Given the description of an element on the screen output the (x, y) to click on. 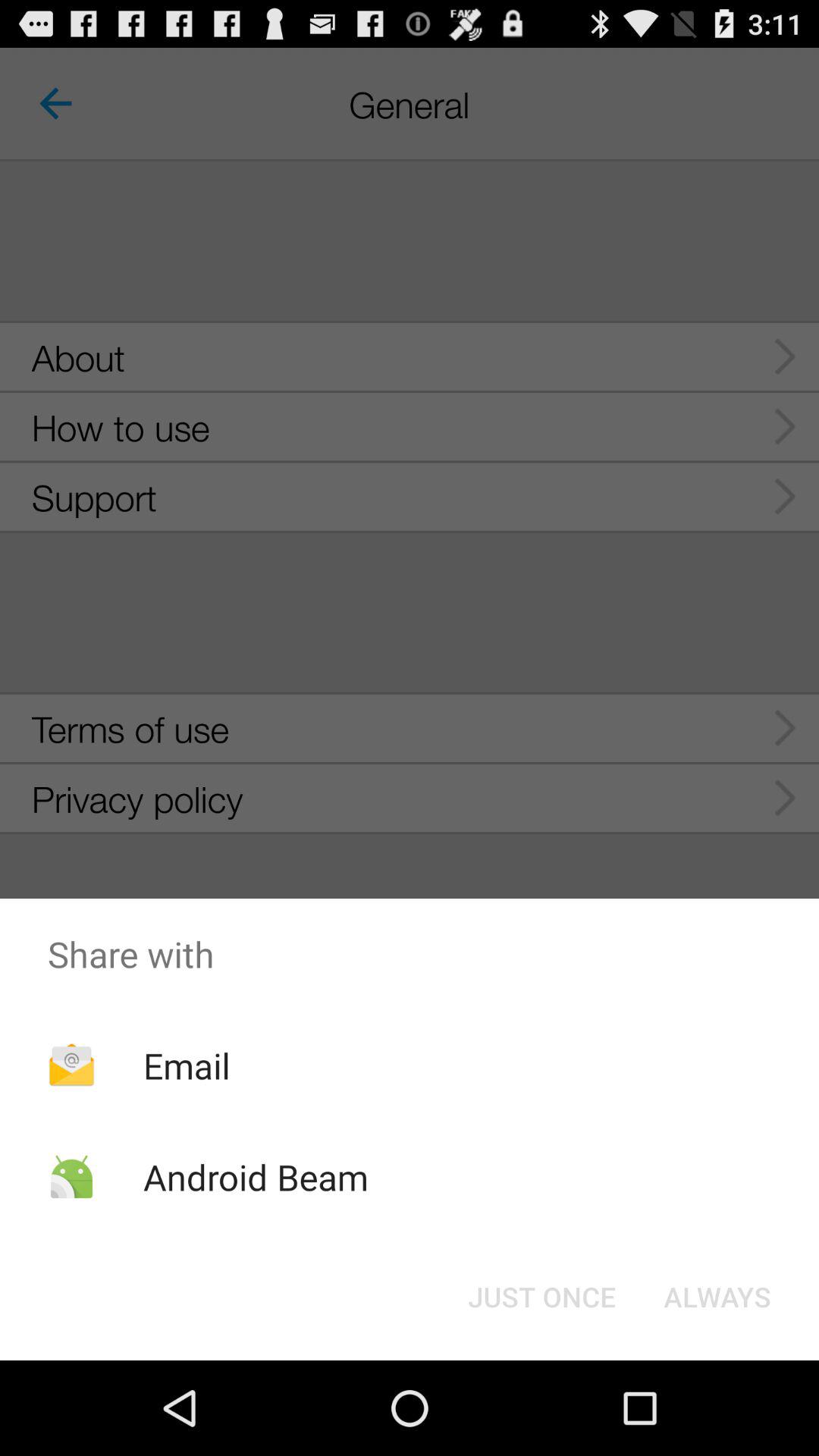
choose email icon (186, 1065)
